Given the description of an element on the screen output the (x, y) to click on. 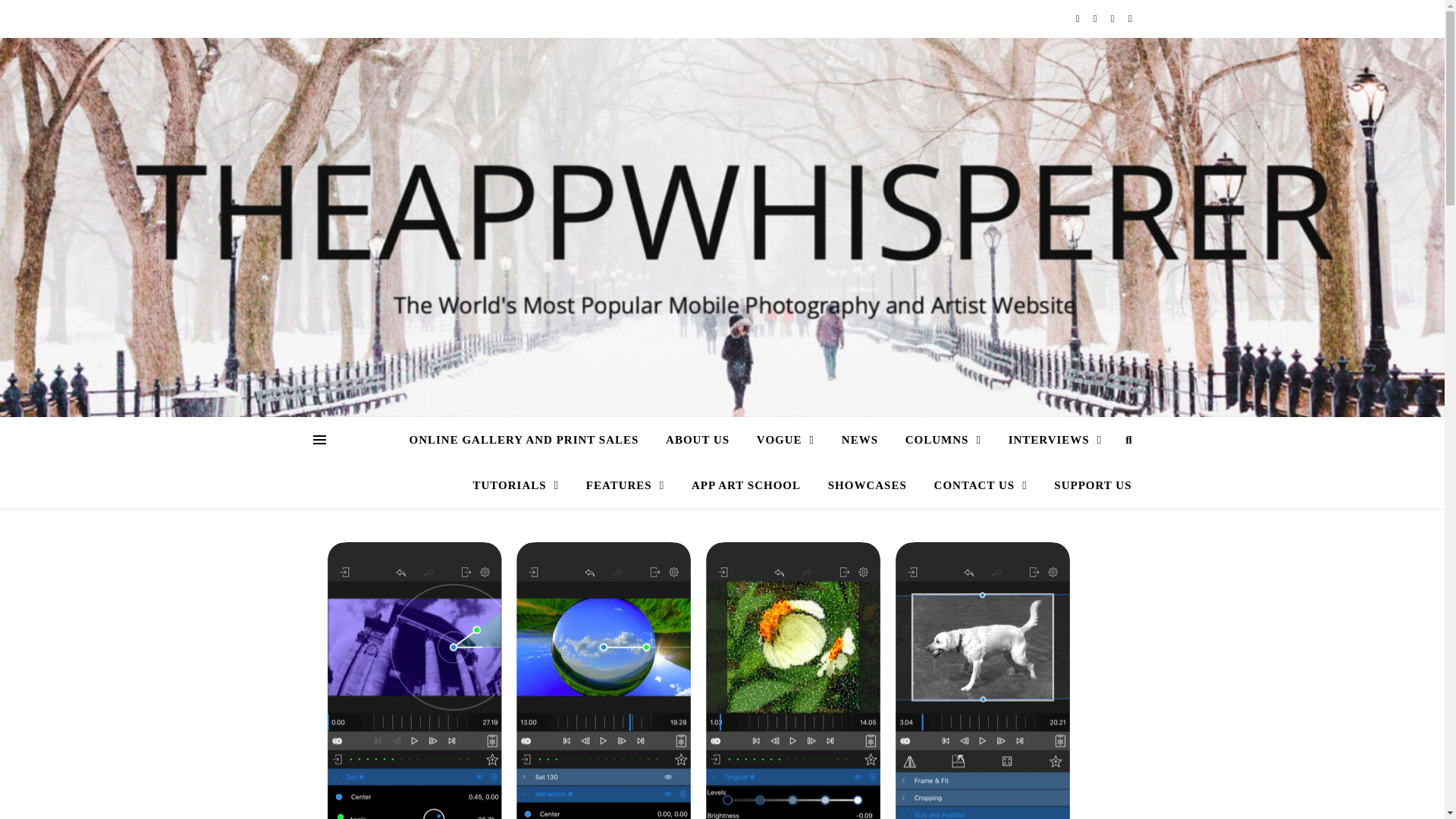
ONLINE GALLERY AND PRINT SALES (529, 439)
COLUMNS (942, 439)
VOGUE (785, 439)
NEWS (859, 439)
ABOUT US (697, 439)
